Given the description of an element on the screen output the (x, y) to click on. 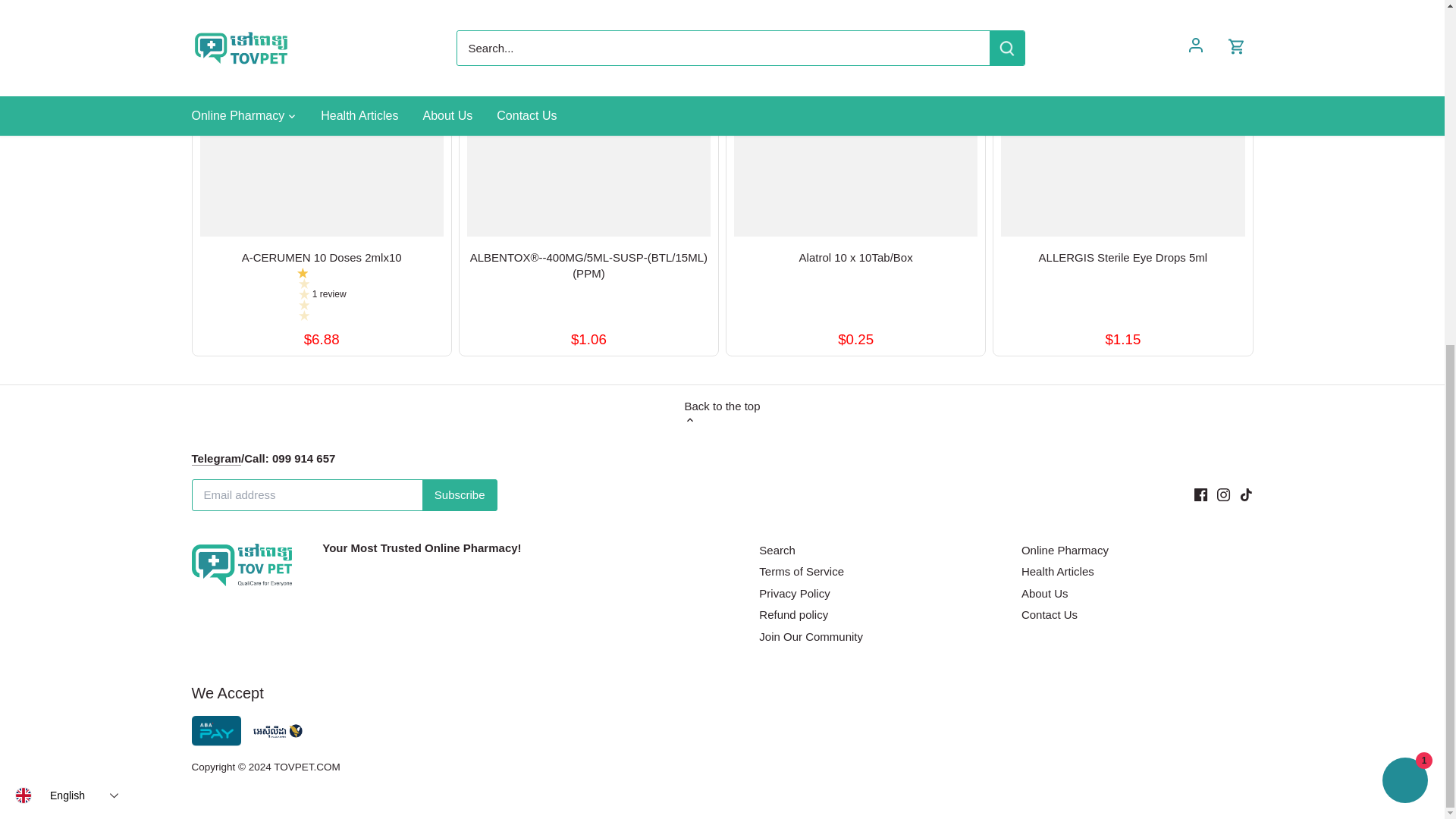
Shopify online store chat (1404, 191)
A-CERUMEN 10 Doses 2mlx10 (322, 256)
Facebook (1200, 494)
Instagram (1223, 494)
Subscribe (459, 495)
